Given the description of an element on the screen output the (x, y) to click on. 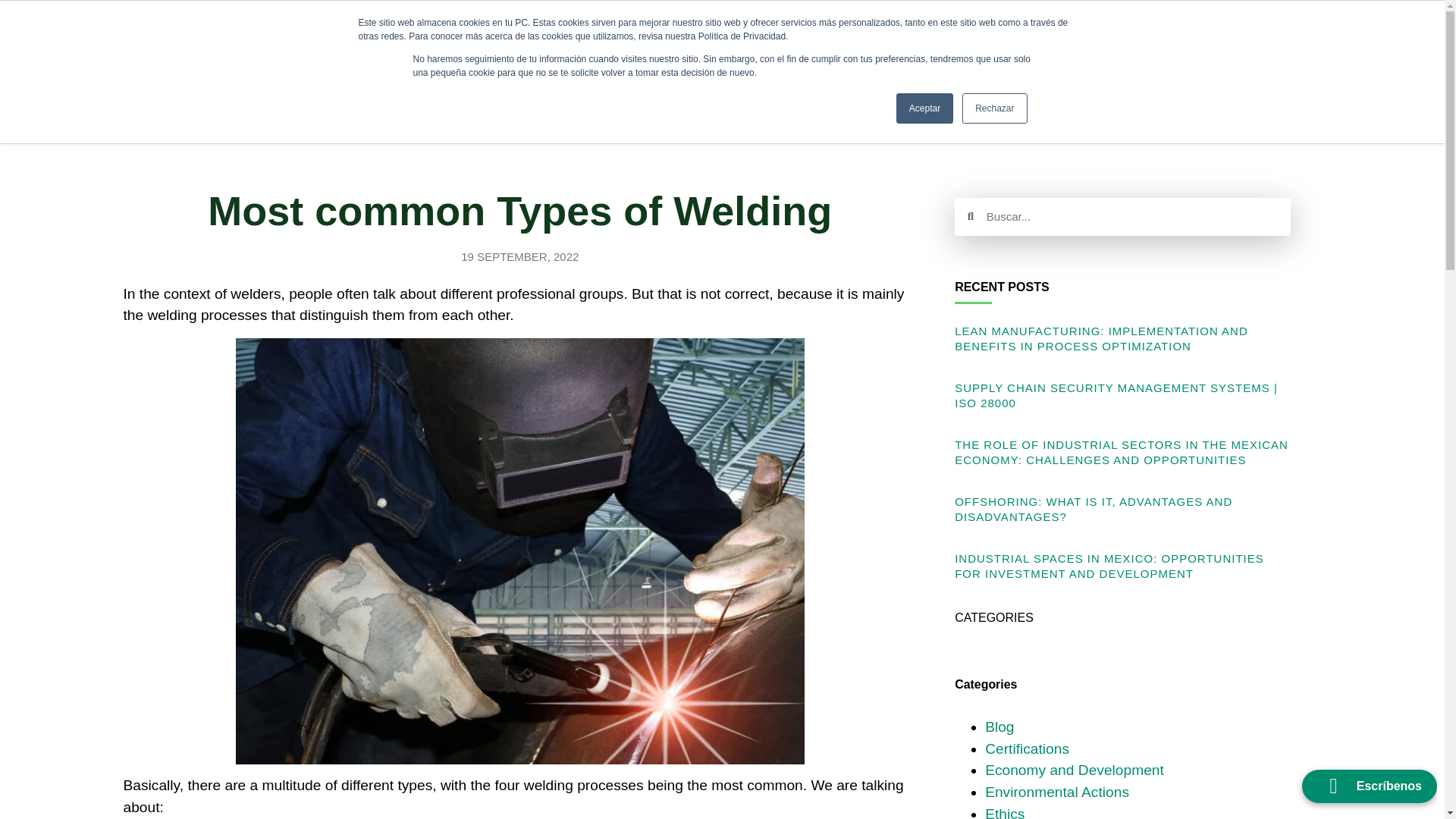
Industrial Buildings (633, 24)
Rechazar (994, 108)
Home (523, 24)
Contact (1008, 71)
Aceptar (924, 108)
Cliengo Widget (1338, 778)
ESG (519, 59)
EN (583, 59)
Cliengo Widget WhatsApp (43, 786)
19 SEPTEMBER, 2022 (519, 257)
OFFSHORING: WHAT IS IT, ADVANTAGES AND DISADVANTAGES? (1093, 509)
Company (887, 24)
